Given the description of an element on the screen output the (x, y) to click on. 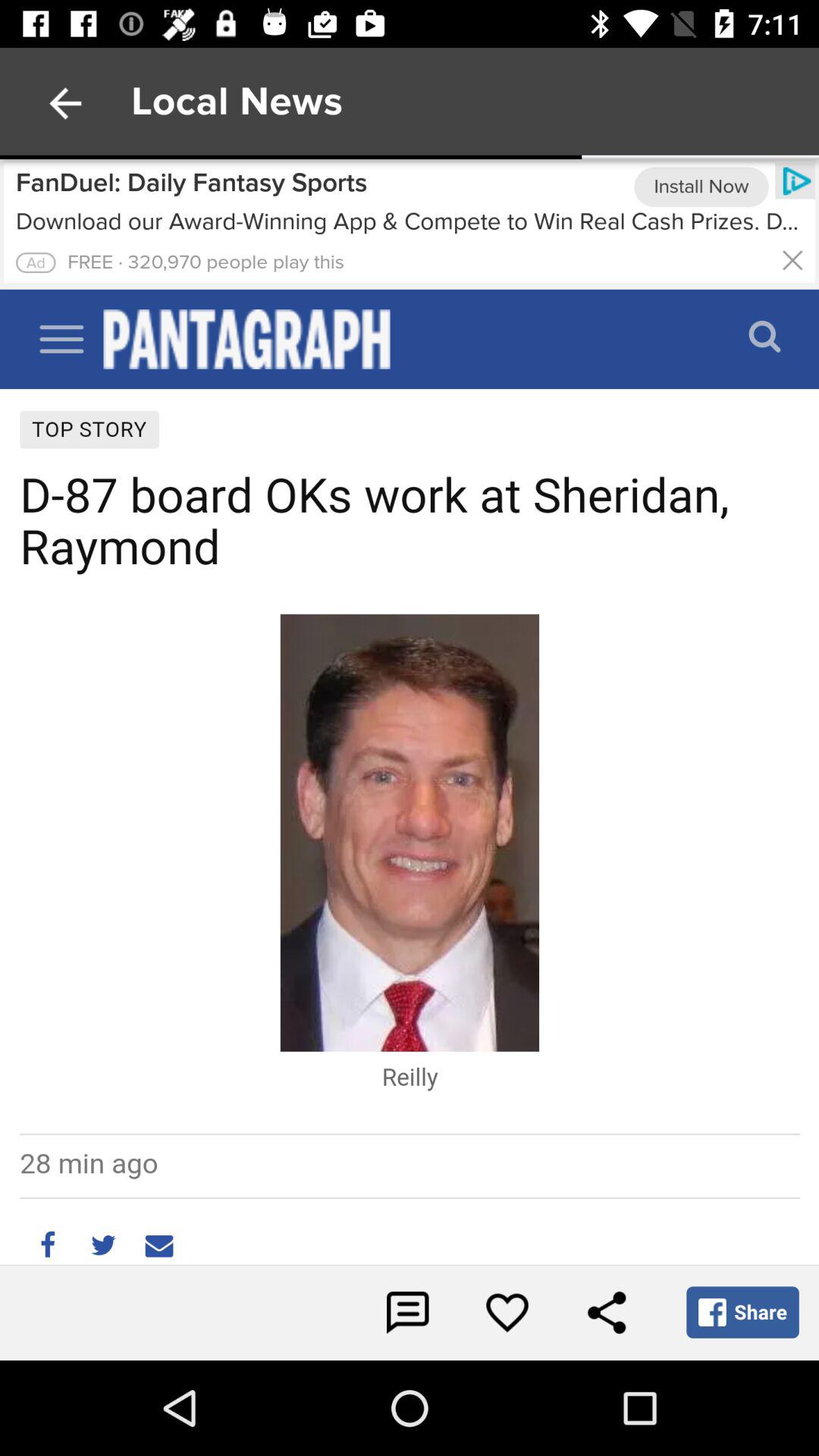
advertisement (409, 224)
